Given the description of an element on the screen output the (x, y) to click on. 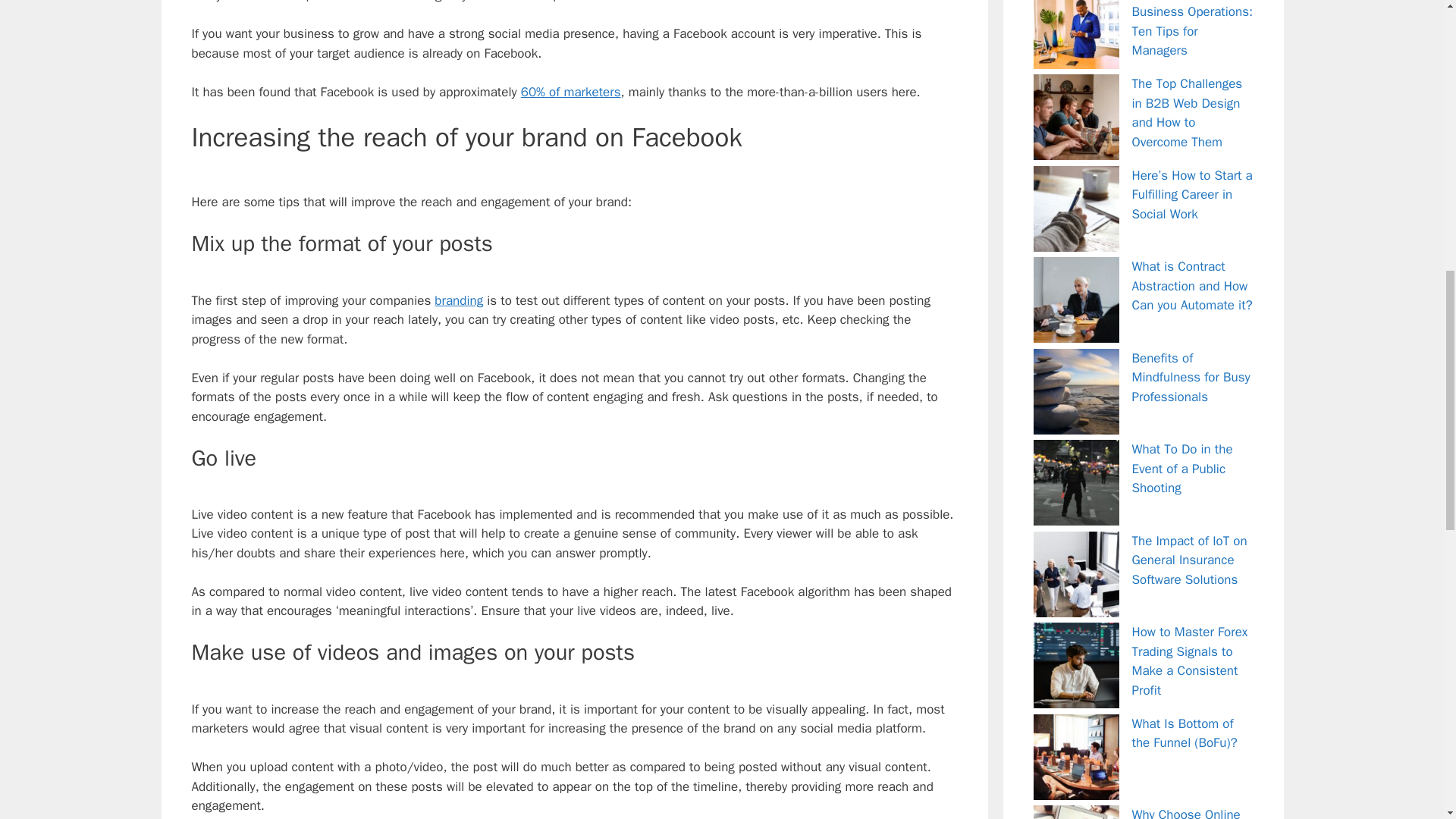
What To Do in the Event of a Public Shooting (1181, 468)
branding (458, 300)
Ensuring Smooth Business Operations: Ten Tips for Managers (1191, 29)
Benefits of Mindfulness for Busy Professionals (1190, 377)
What is Contract Abstraction and How Can you Automate it? (1191, 285)
Why Choose Online College for Flexibility and Convenience? (1188, 812)
The Impact of IoT on General Insurance Software Solutions (1188, 559)
